Given the description of an element on the screen output the (x, y) to click on. 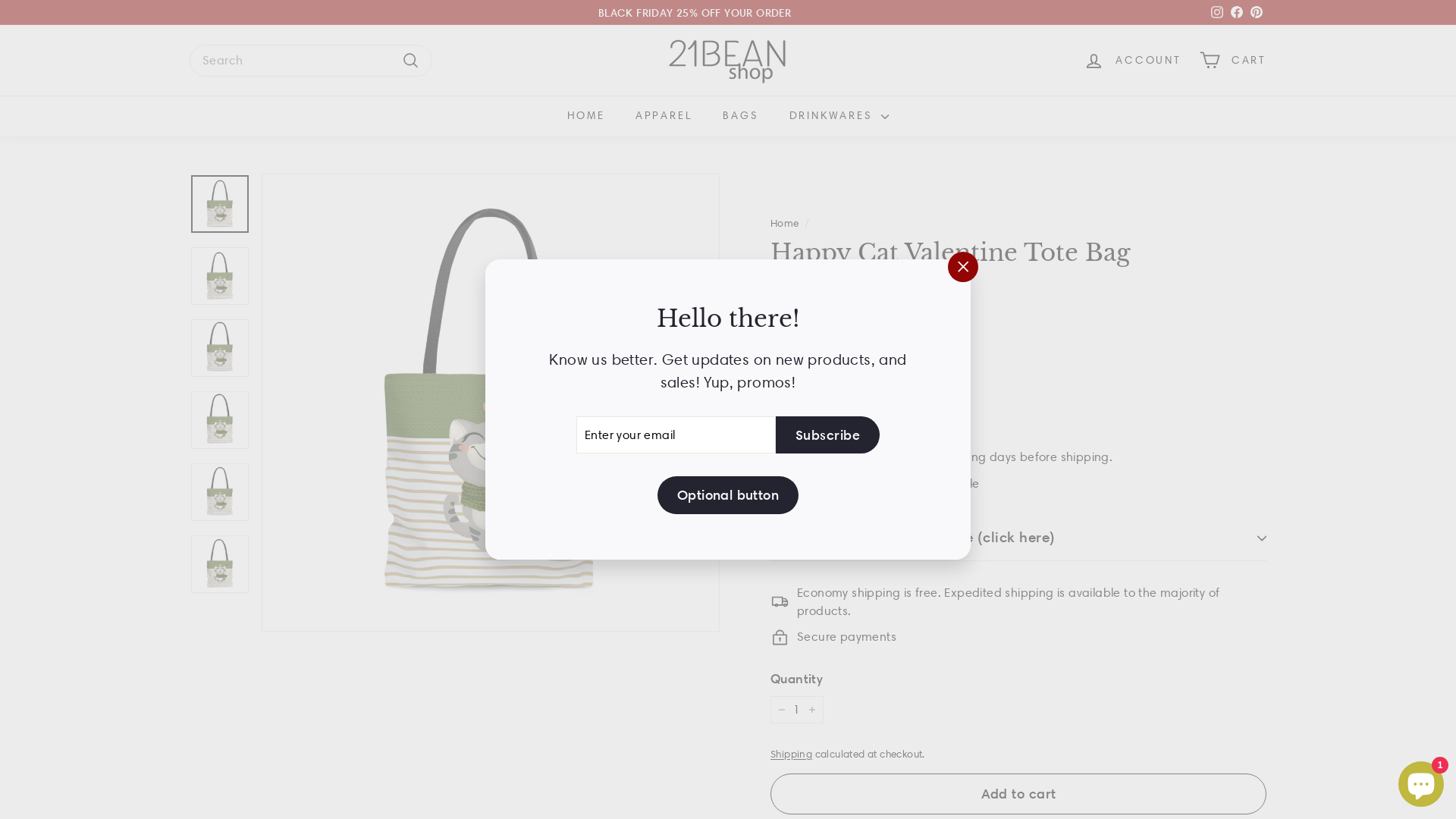
Shipping Element type: text (791, 753)
Facebook Element type: text (1236, 11)
Home Element type: text (784, 222)
APPAREL Element type: text (664, 115)
Pinterest Element type: text (1256, 11)
Shopify online store chat Element type: hover (1420, 780)
Subscribe Element type: text (827, 435)
HOME Element type: text (586, 115)
+ Element type: text (811, 709)
Your personalization message (click here) Element type: text (1018, 538)
Optional button Element type: text (727, 495)
Add to cart Element type: text (1018, 793)
"Close (esc)" Element type: text (962, 266)
CART Element type: text (1232, 59)
instagram
Instagram Element type: text (1216, 11)
BAGS Element type: text (740, 115)
ACCOUNT Element type: text (1132, 59)
